Given the description of an element on the screen output the (x, y) to click on. 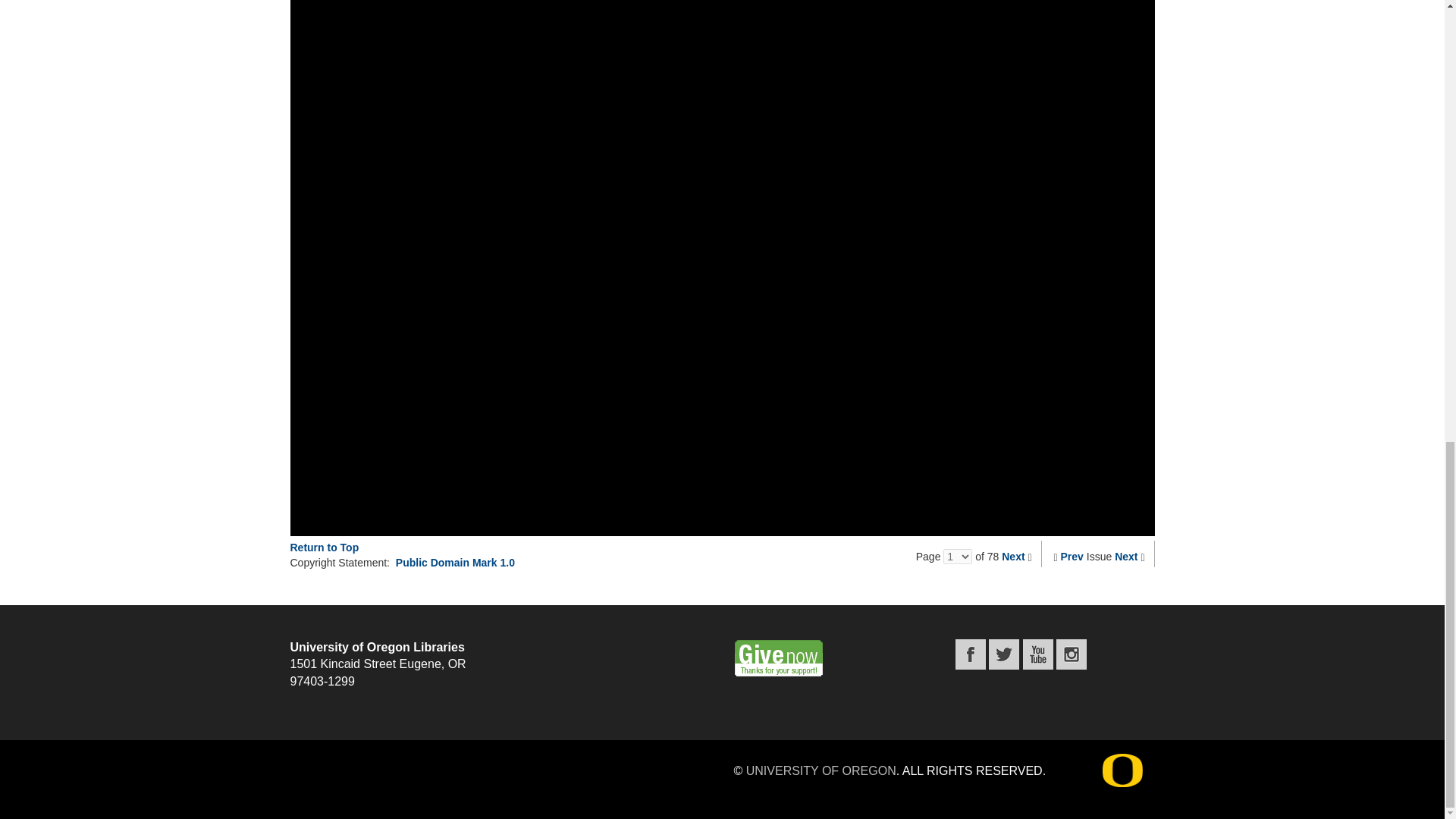
Public Domain Mark 1.0 (455, 562)
Prev (1072, 556)
Next (1013, 556)
Next (1126, 556)
Return to Top (323, 547)
